Given the description of an element on the screen output the (x, y) to click on. 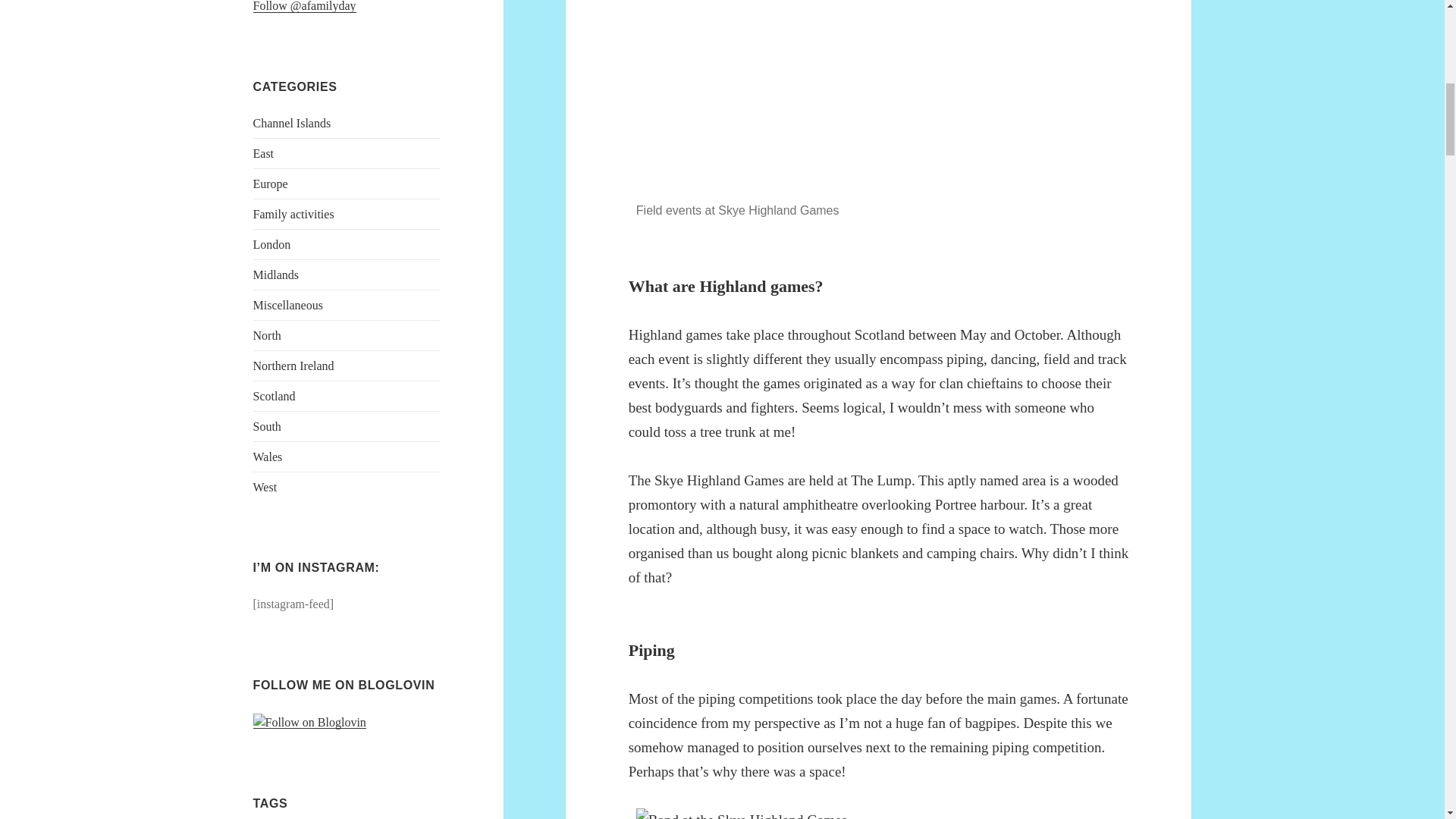
Channel Islands (292, 123)
London (272, 244)
North (267, 335)
Northern Ireland (293, 365)
West (265, 486)
Midlands (275, 274)
Family activities (293, 214)
East (264, 153)
Miscellaneous (288, 305)
Wales (267, 456)
